Given the description of an element on the screen output the (x, y) to click on. 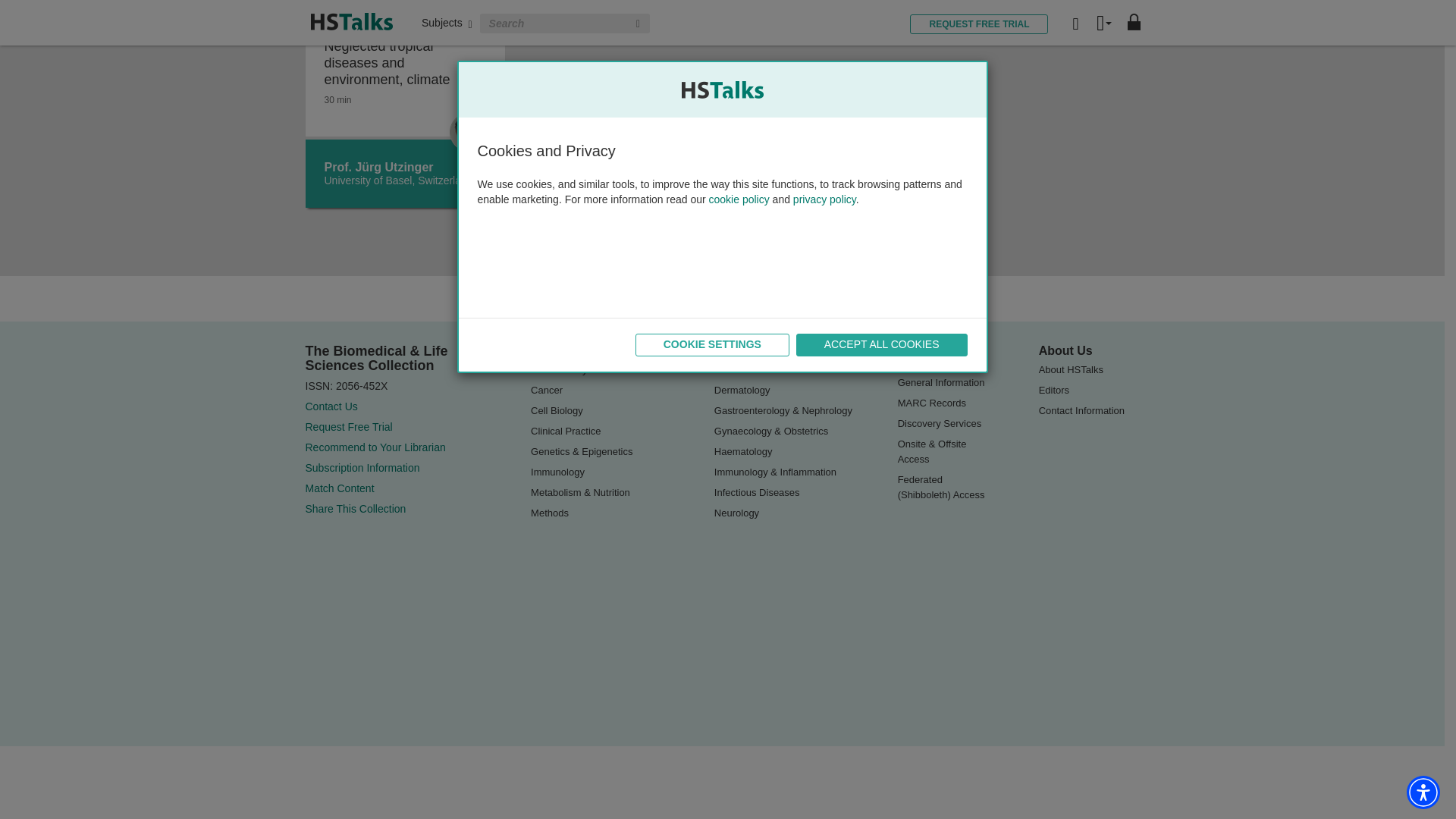
Accessibility Menu (1422, 482)
